Given the description of an element on the screen output the (x, y) to click on. 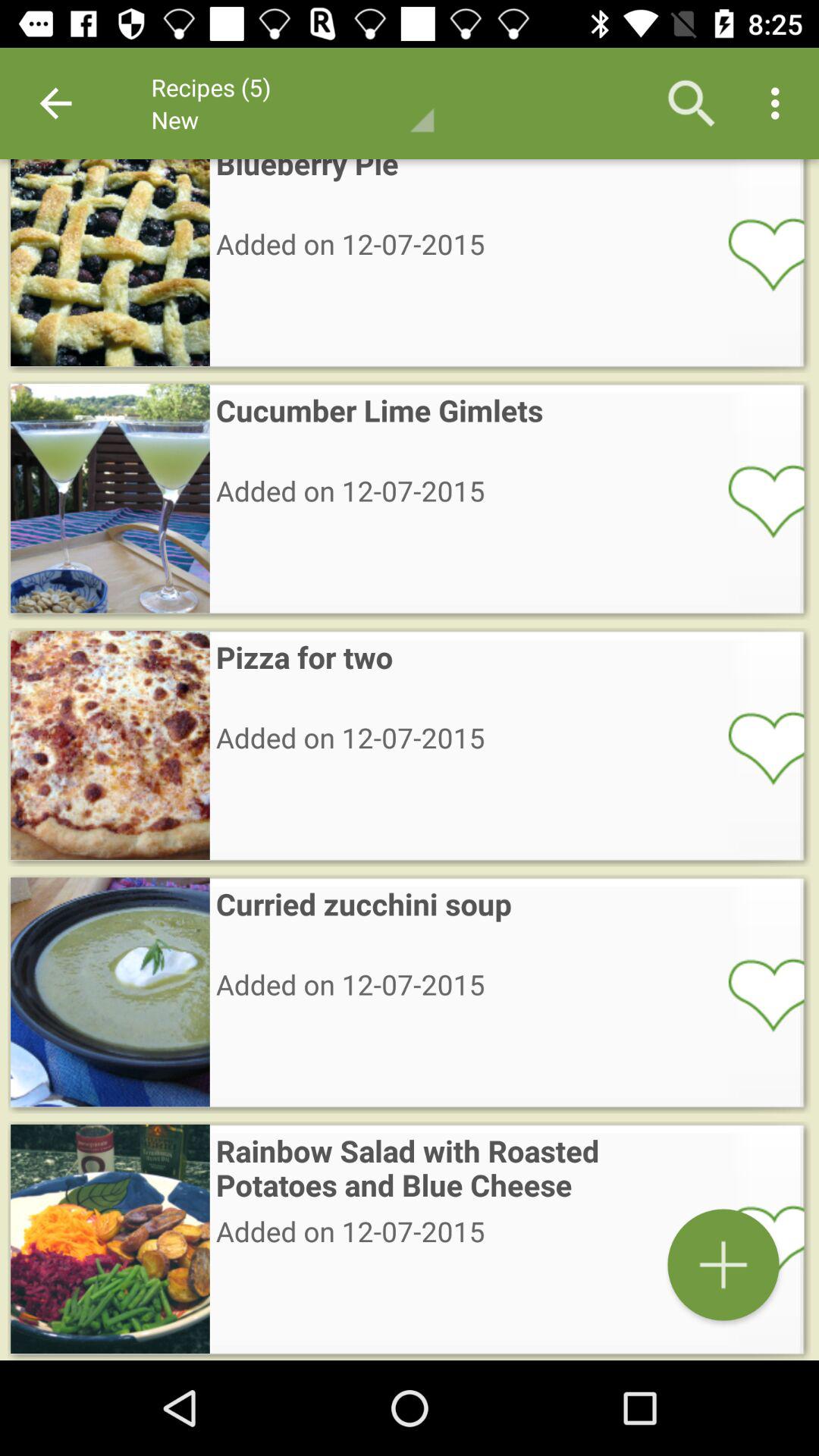
select as favorite (756, 253)
